Given the description of an element on the screen output the (x, y) to click on. 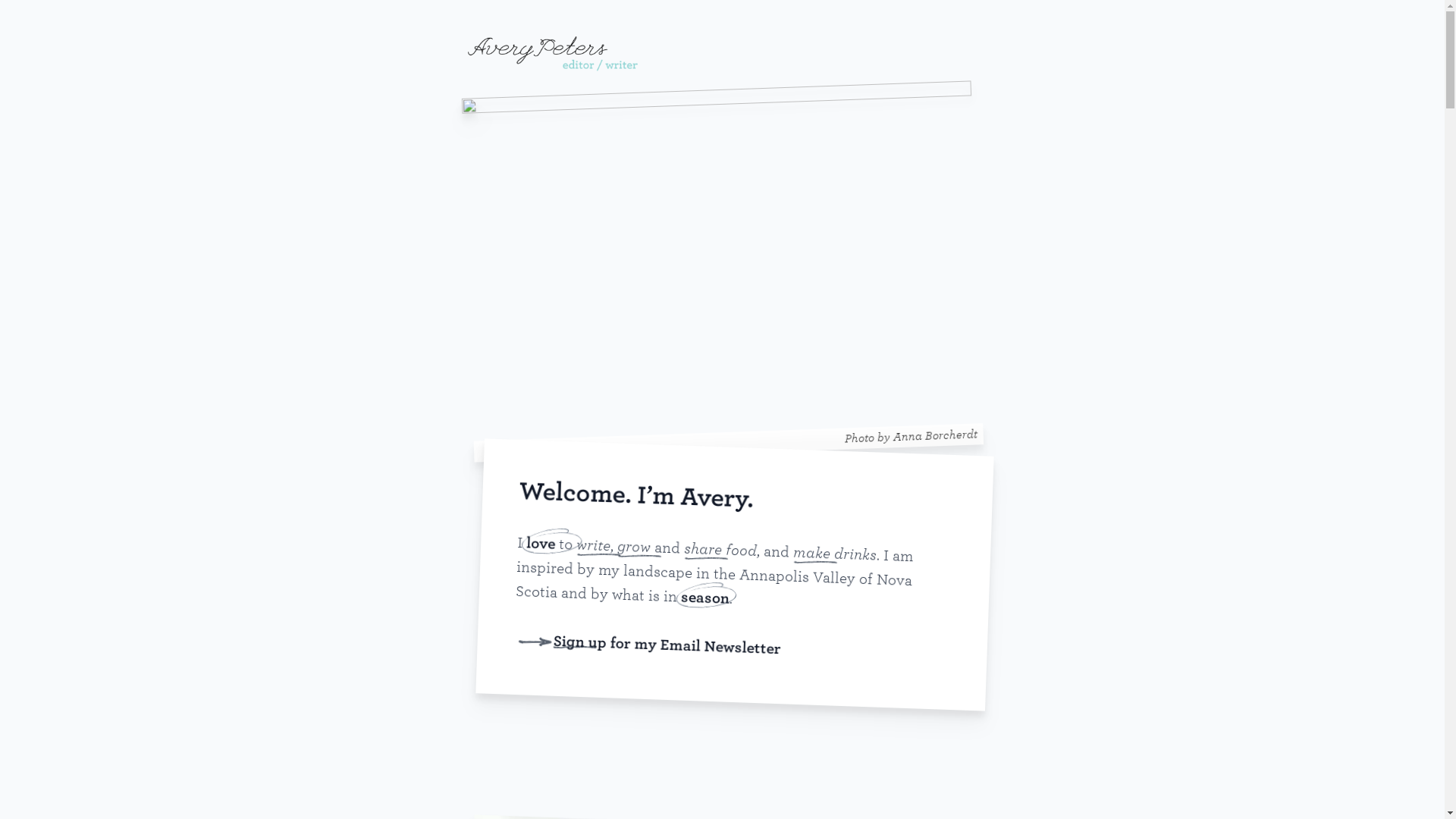
Sign up for my Email Newsletter Element type: text (666, 641)
